Given the description of an element on the screen output the (x, y) to click on. 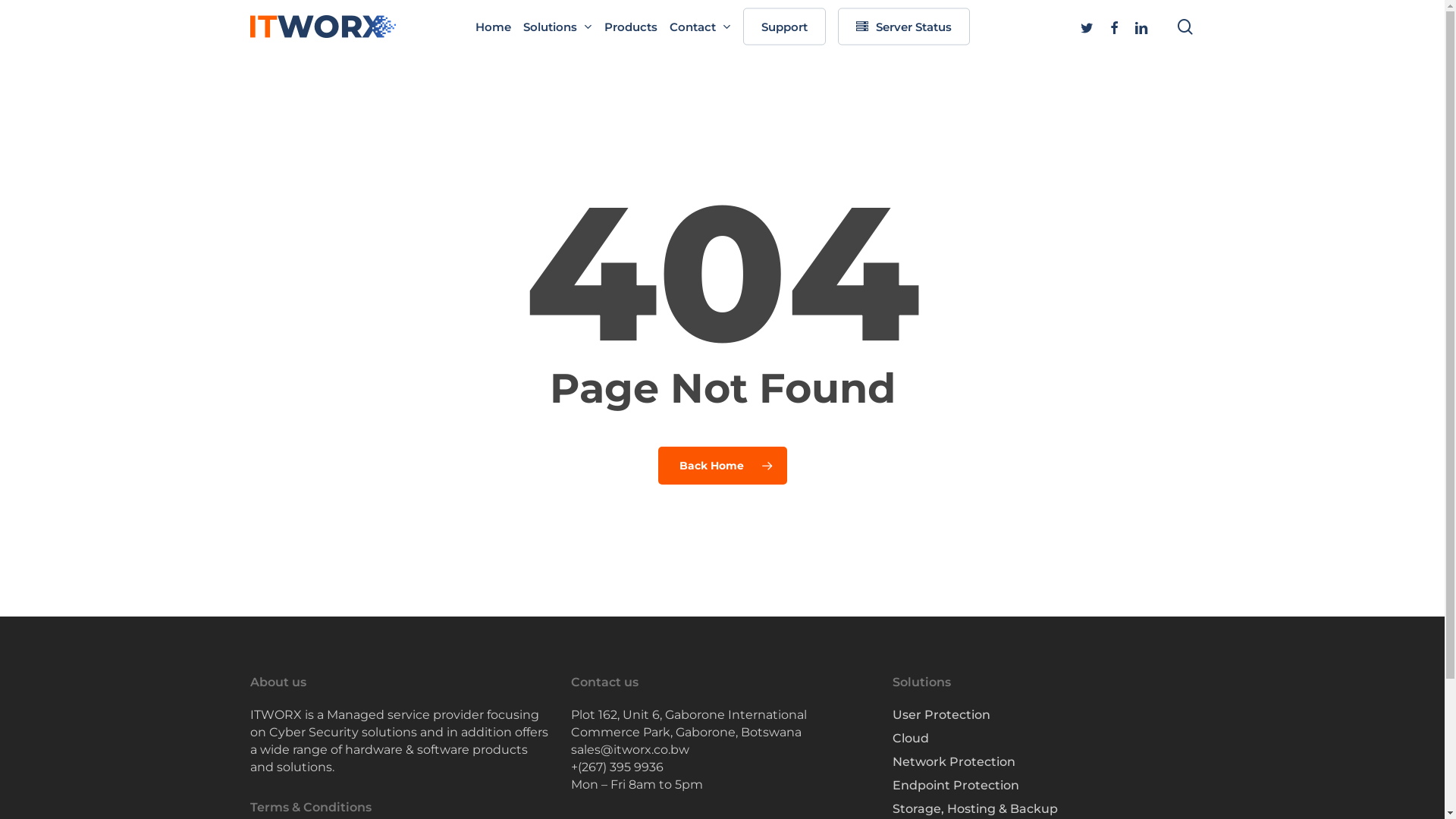
linkedin Element type: text (1140, 25)
Back Home Element type: text (722, 464)
Server Status Element type: text (903, 25)
search Element type: text (1185, 26)
twitter Element type: text (1086, 25)
Products Element type: text (629, 25)
Support Element type: text (784, 25)
Endpoint Protection Element type: text (1043, 784)
Contact Element type: text (699, 25)
Network Protection Element type: text (1043, 761)
Cloud Element type: text (1043, 737)
Solutions Element type: text (557, 25)
Storage, Hosting & Backup Element type: text (1043, 808)
Home Element type: text (492, 25)
sales@itworx.co.bw Element type: text (630, 749)
+(267) 395 9936 Element type: text (617, 766)
facebook Element type: text (1113, 25)
User Protection Element type: text (1043, 714)
